Given the description of an element on the screen output the (x, y) to click on. 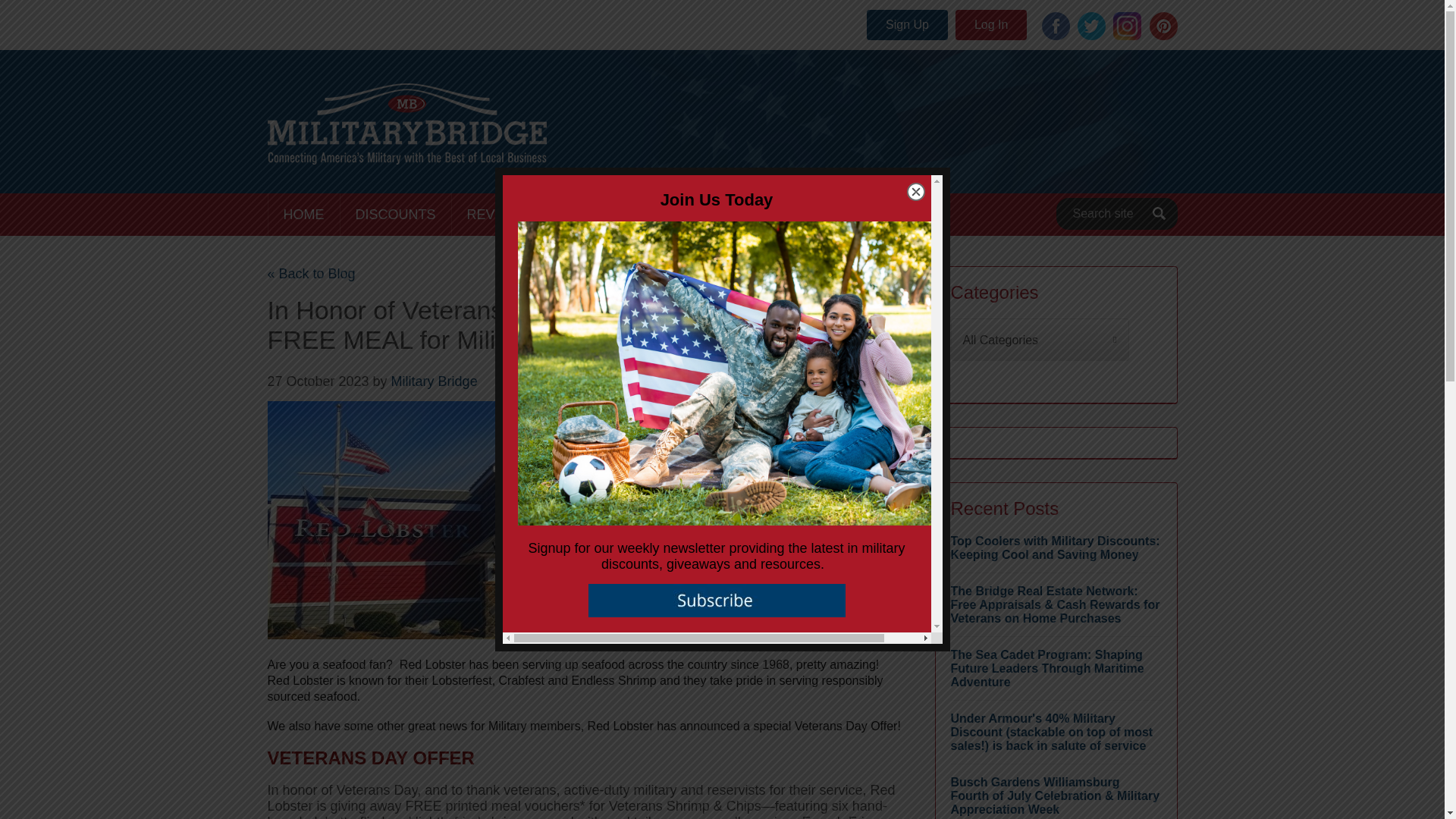
REAL ESTATE (606, 214)
Facebook (1056, 26)
RESOURCES (724, 214)
Sign Up (906, 24)
Instagram (1127, 26)
REVIEWS (497, 214)
Search (1159, 213)
HOME (303, 214)
Facebook (1056, 26)
Twitter (1091, 26)
DISCOUNTS (394, 214)
Instagram (1127, 26)
MilitaryBridge - Online military discounts and deals (406, 123)
Log In (990, 24)
Military Bridge (434, 381)
